Given the description of an element on the screen output the (x, y) to click on. 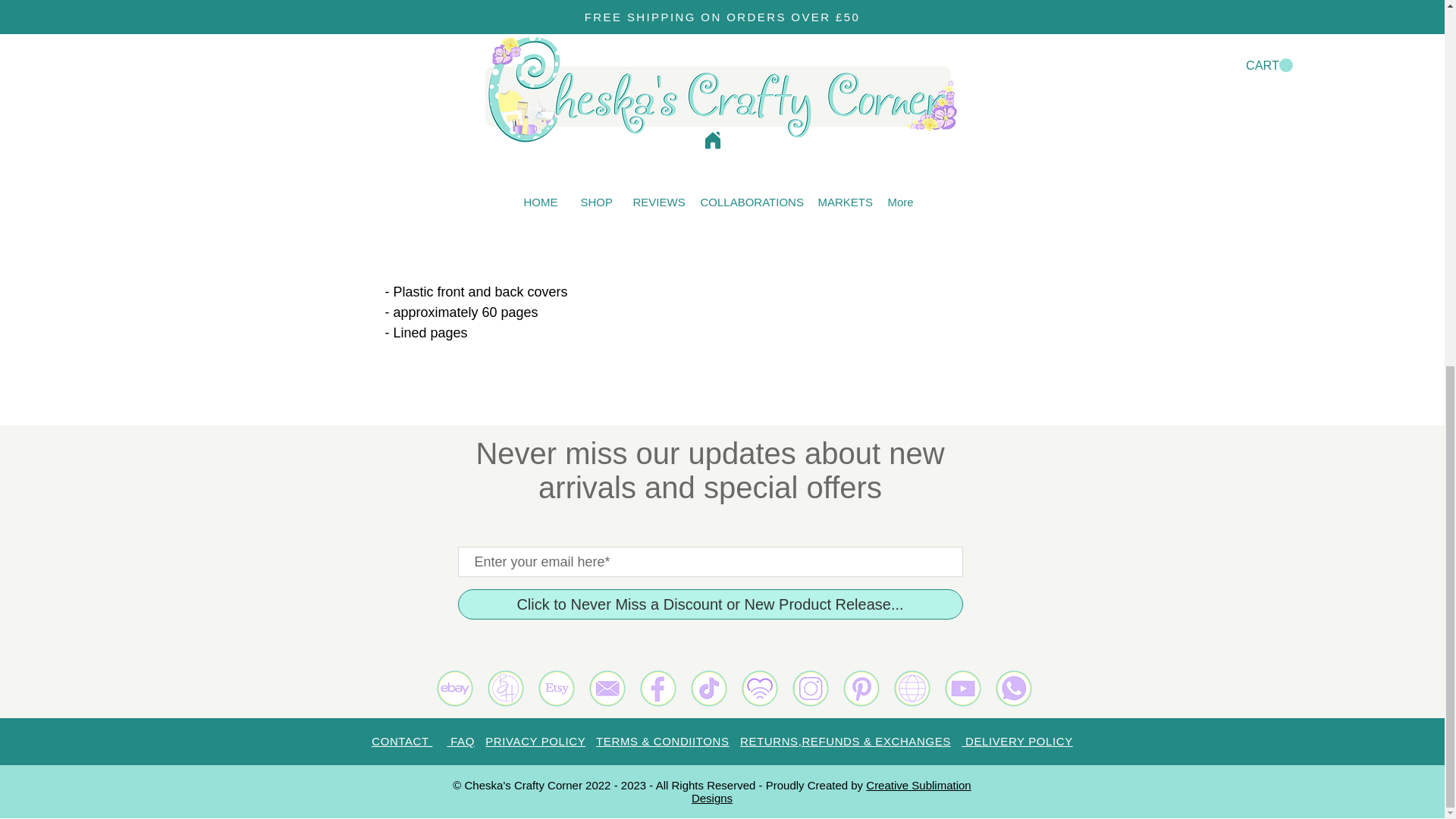
Add to Cart (905, 9)
Use right and left arrows to navigate between tabs (1000, 99)
Use right and left arrows to navigate between tabs (1128, 99)
Use right and left arrows to navigate between tabs (874, 99)
